Given the description of an element on the screen output the (x, y) to click on. 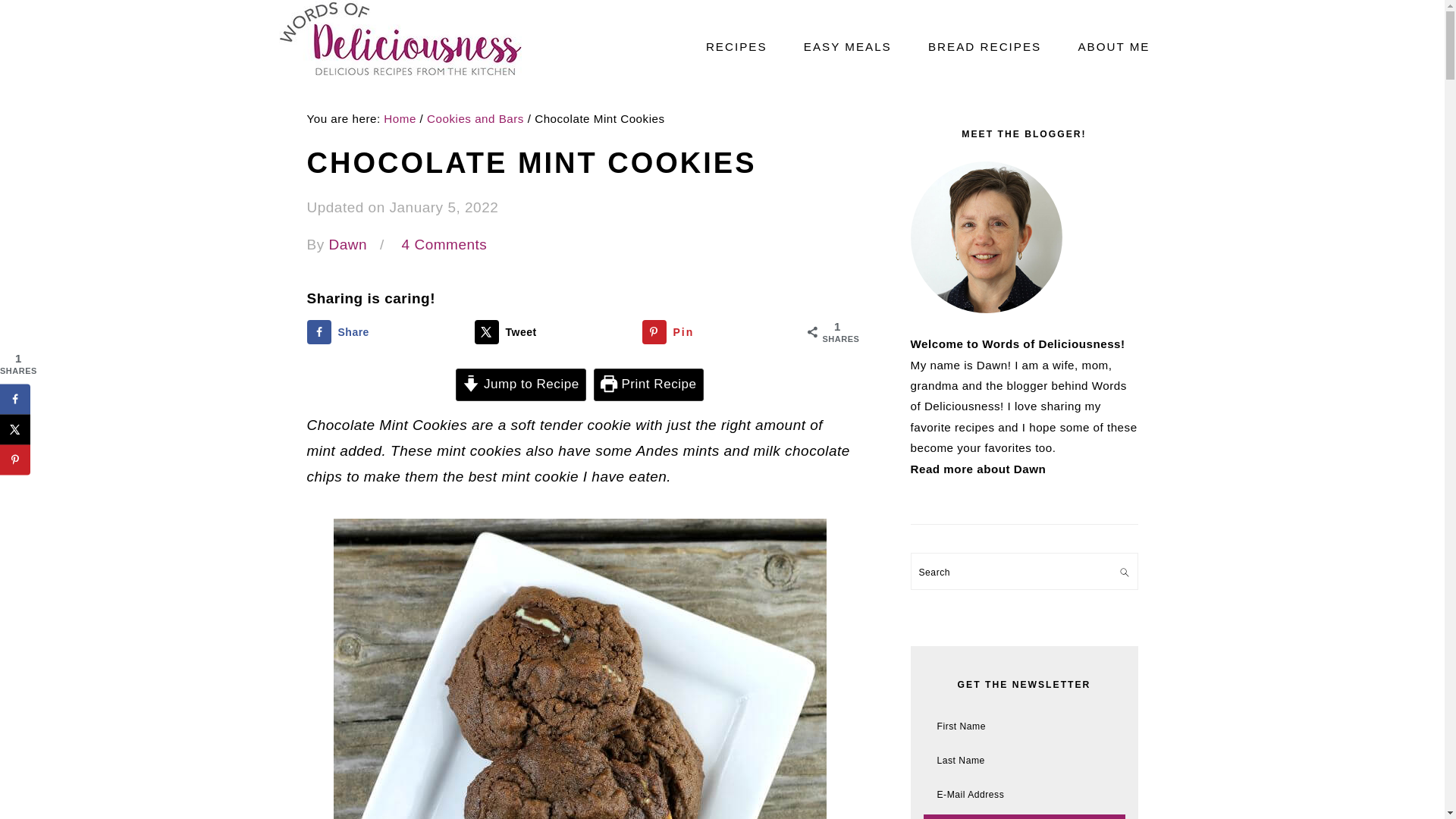
Home (400, 118)
BREAD RECIPES (984, 46)
Print Recipe (648, 384)
ABOUT ME (1113, 46)
RECIPES (736, 46)
Go (1024, 816)
Save to Pinterest (15, 459)
EASY MEALS (847, 46)
